Given the description of an element on the screen output the (x, y) to click on. 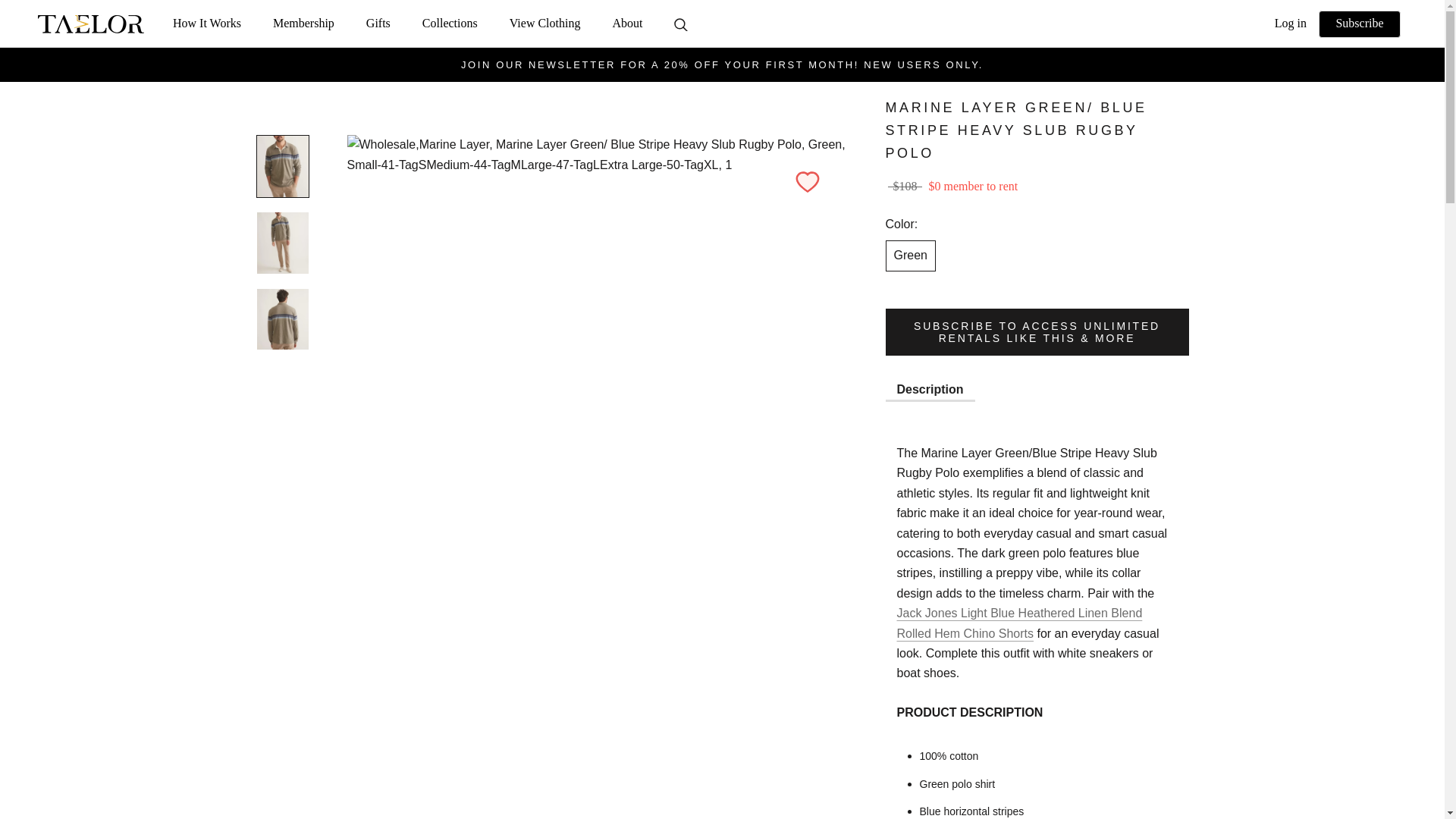
Add to wardrobe (303, 22)
